Given the description of an element on the screen output the (x, y) to click on. 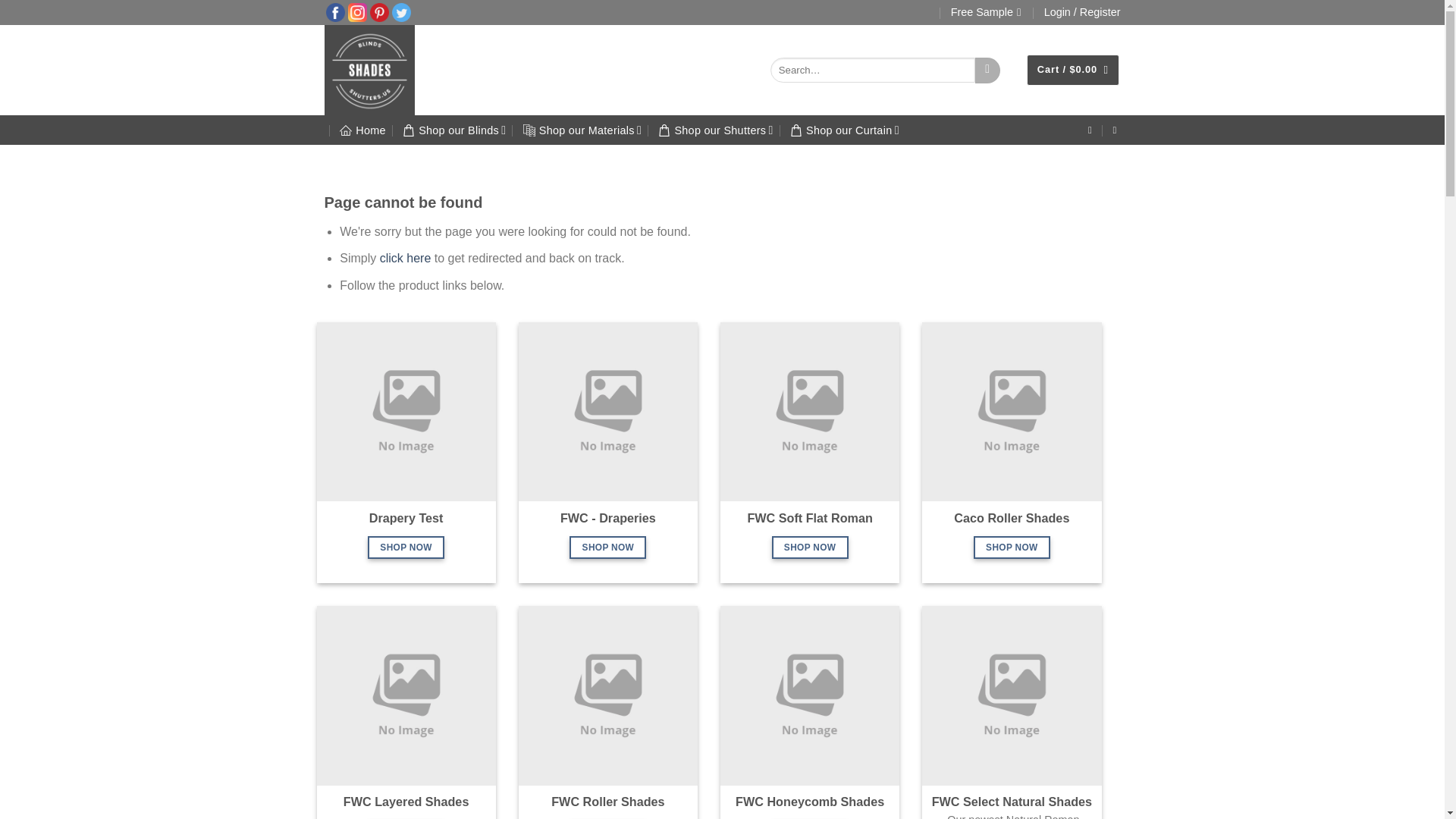
Instagram (357, 11)
Facebook (335, 12)
Twitter (400, 12)
Cart (1072, 69)
Facebook (335, 11)
Shop our Blinds (454, 129)
Pinterest (378, 12)
Free Sample (986, 12)
Instagram (356, 12)
Search (987, 70)
Twitter (401, 11)
Home (362, 130)
Blinds Shades Shutter (389, 70)
Pinterest (379, 11)
